Given the description of an element on the screen output the (x, y) to click on. 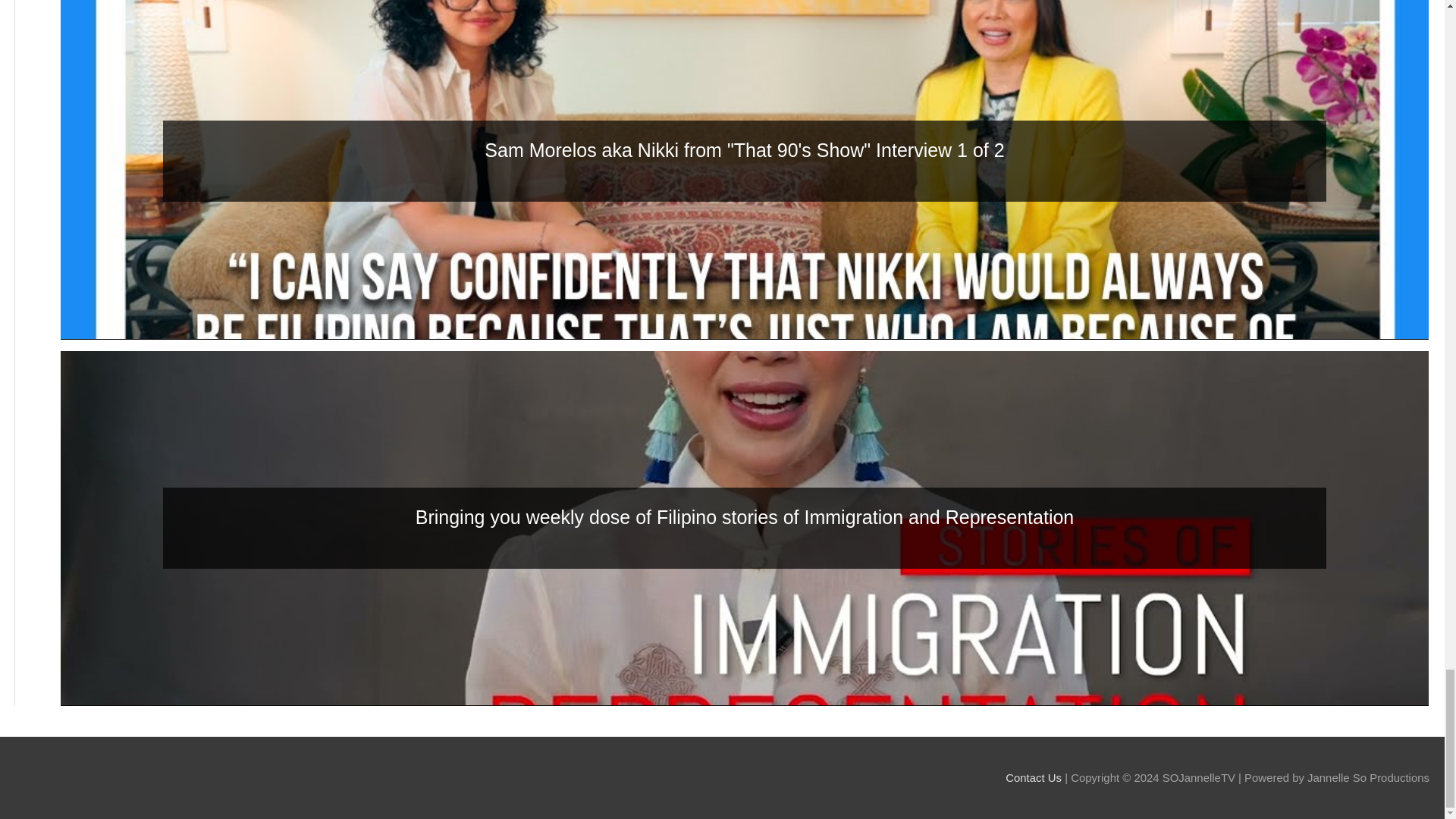
Sam Morelos aka Nikki from "That 90's Show" Interview 1 of 2 (744, 150)
